Given the description of an element on the screen output the (x, y) to click on. 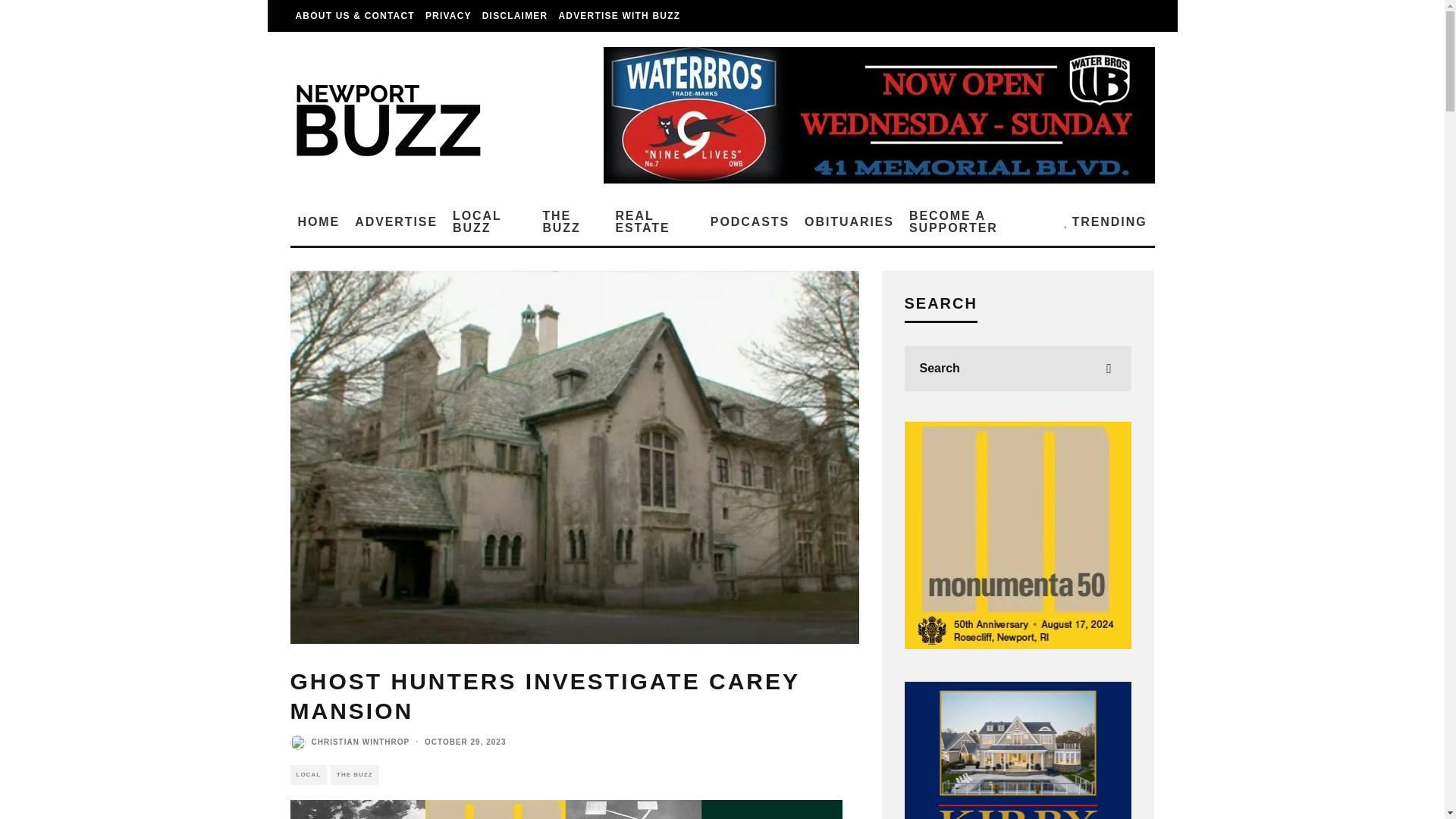
REAL ESTATE (654, 222)
THE BUZZ (570, 222)
PRIVACY (448, 15)
ADVERTISE WITH BUZZ (619, 15)
HOME (318, 221)
ADVERTISE (396, 221)
LOCAL BUZZ (489, 222)
PODCASTS (749, 221)
DISCLAIMER (515, 15)
